Given the description of an element on the screen output the (x, y) to click on. 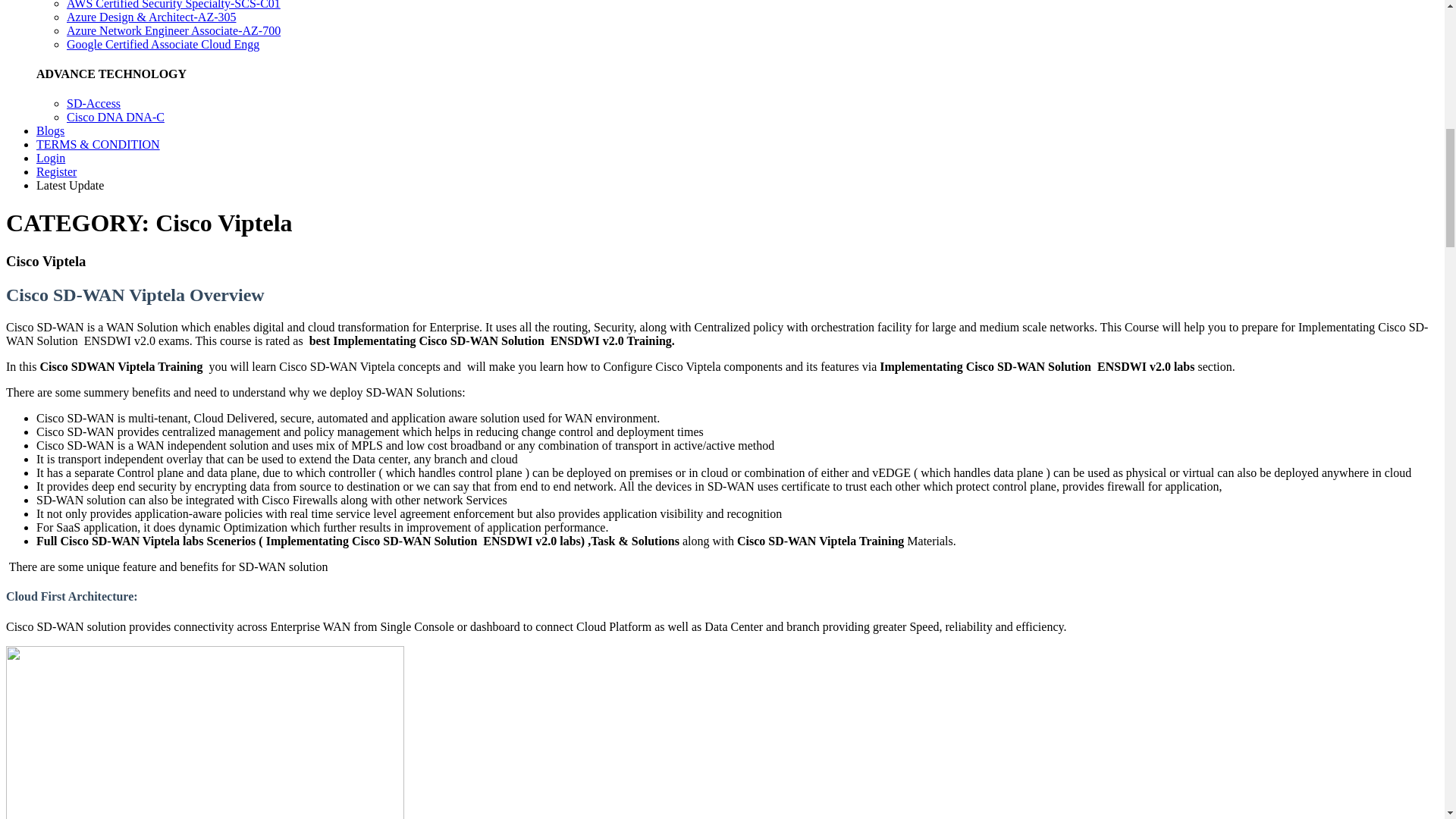
Google Certified Associate Cloud Engg (162, 43)
SD-Access (93, 103)
Register (56, 171)
Cisco DNA DNA-C (115, 116)
Latest Update (69, 185)
AWS Certified Security Specialty-SCS-C01 (173, 4)
Blogs (50, 130)
Login (50, 157)
Azure Network Engineer Associate-AZ-700 (173, 30)
